Given the description of an element on the screen output the (x, y) to click on. 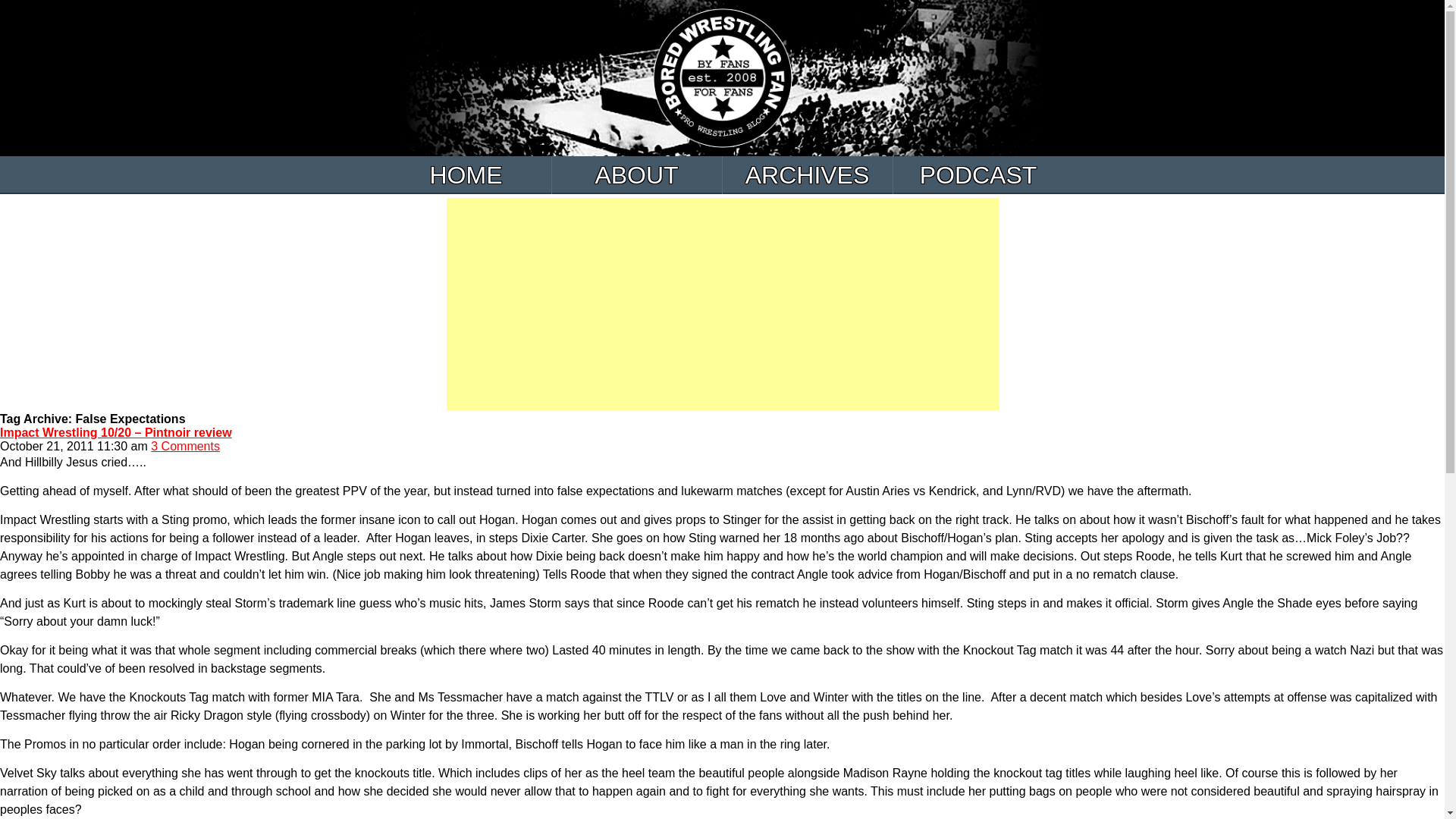
About (636, 175)
ARCHIVES (807, 175)
ABOUT (636, 175)
3 Comments (185, 445)
Podcast (978, 175)
Advertisement (721, 304)
Archives (807, 175)
PODCAST (978, 175)
HOME (465, 175)
